Given the description of an element on the screen output the (x, y) to click on. 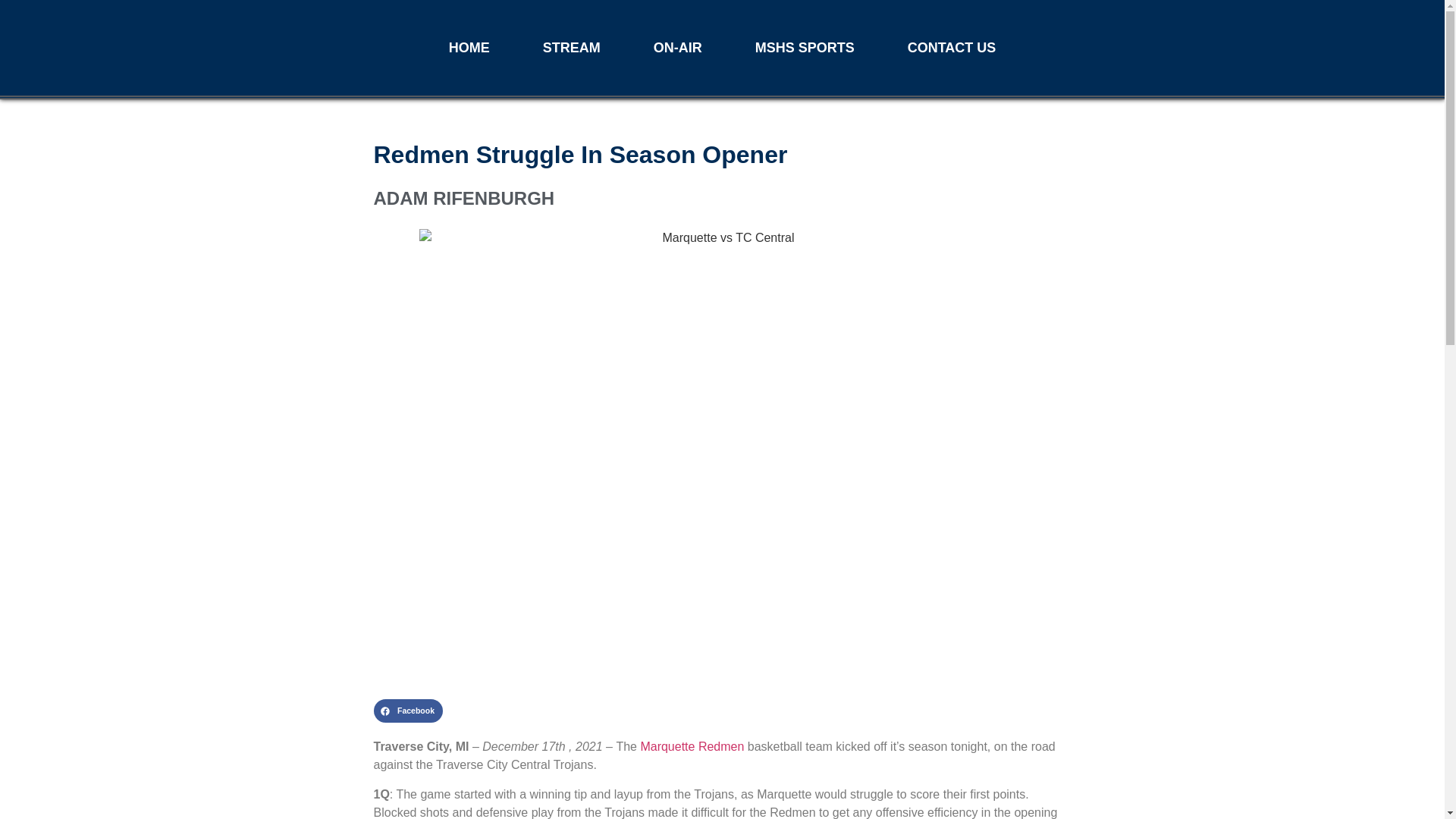
STREAM (571, 47)
ON-AIR (678, 47)
ADAM RIFENBURGH (721, 198)
Marquette Redmen (692, 746)
MSHS SPORTS (804, 47)
HOME (469, 47)
CONTACT US (951, 47)
